Given the description of an element on the screen output the (x, y) to click on. 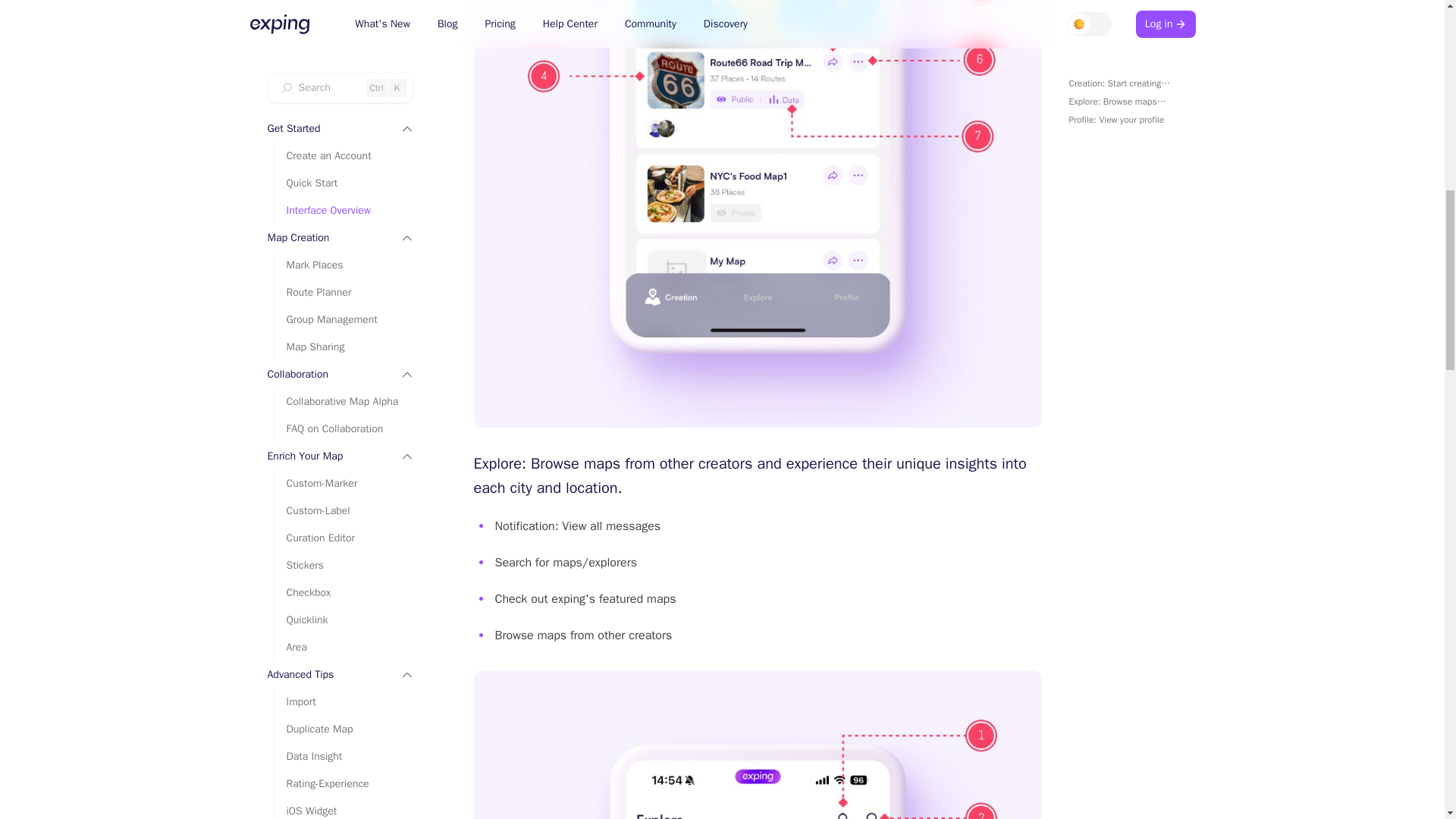
iOS Widget (344, 2)
Full Screen Browsing (344, 19)
Web View Style (344, 46)
Manage Shared Links (344, 73)
